Given the description of an element on the screen output the (x, y) to click on. 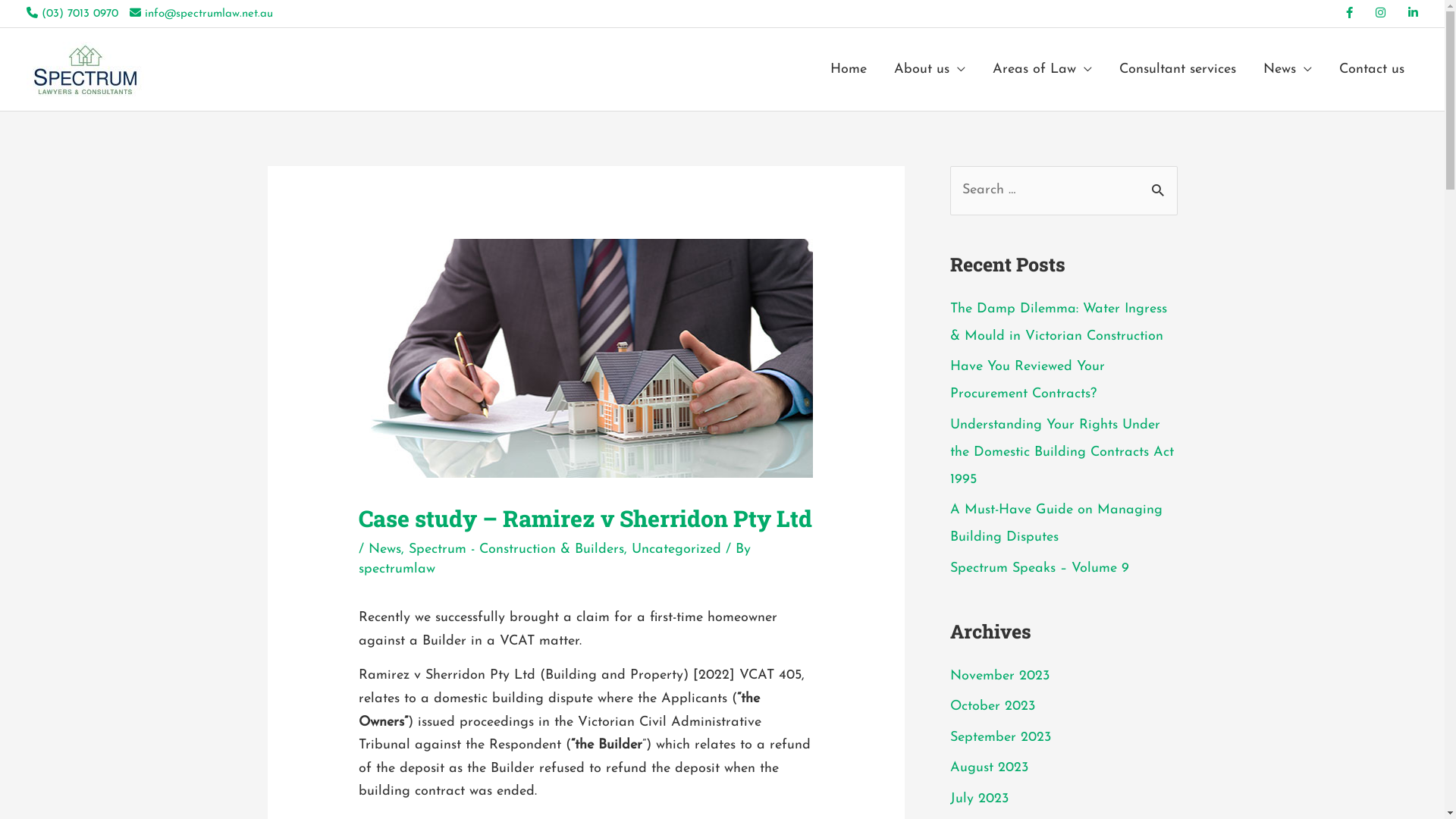
News Element type: text (1287, 69)
Home Element type: text (848, 69)
August 2023 Element type: text (988, 767)
November 2023 Element type: text (998, 675)
News Element type: text (384, 549)
About us Element type: text (929, 69)
Consultant services Element type: text (1177, 69)
spectrumlaw Element type: text (396, 568)
Uncategorized Element type: text (676, 549)
Search Element type: text (1160, 182)
Have You Reviewed Your Procurement Contracts? Element type: text (1026, 380)
Contact us Element type: text (1371, 69)
(03) 7013 0970 Element type: text (72, 13)
July 2023 Element type: text (978, 798)
Spectrum - Construction & Builders Element type: text (516, 549)
A Must-Have Guide on Managing Building Disputes Element type: text (1055, 523)
October 2023 Element type: text (991, 706)
info@spectrumlaw.net.au Element type: text (201, 13)
September 2023 Element type: text (999, 737)
Areas of Law Element type: text (1042, 69)
